Given the description of an element on the screen output the (x, y) to click on. 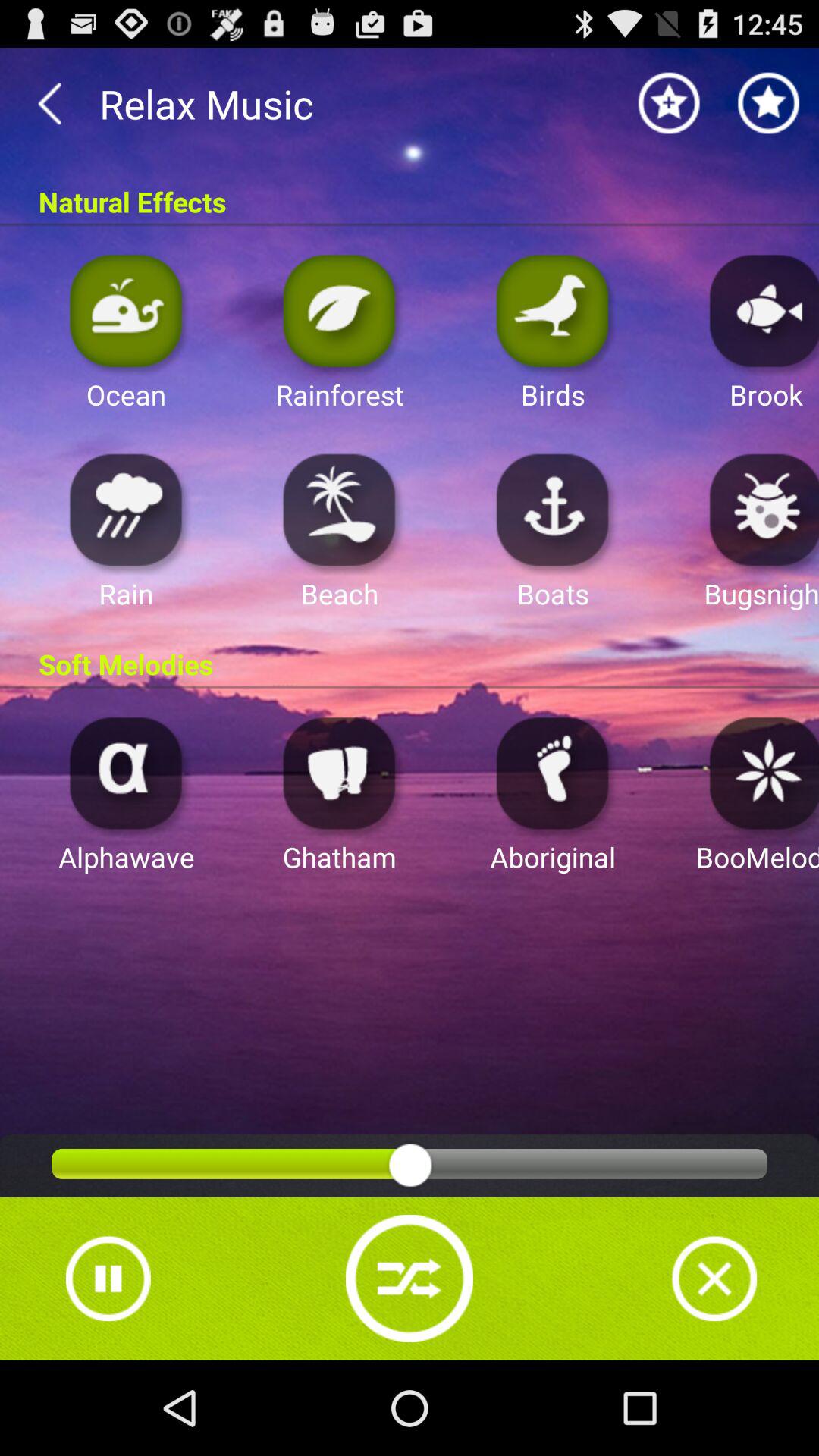
bugsnight button (759, 509)
